Given the description of an element on the screen output the (x, y) to click on. 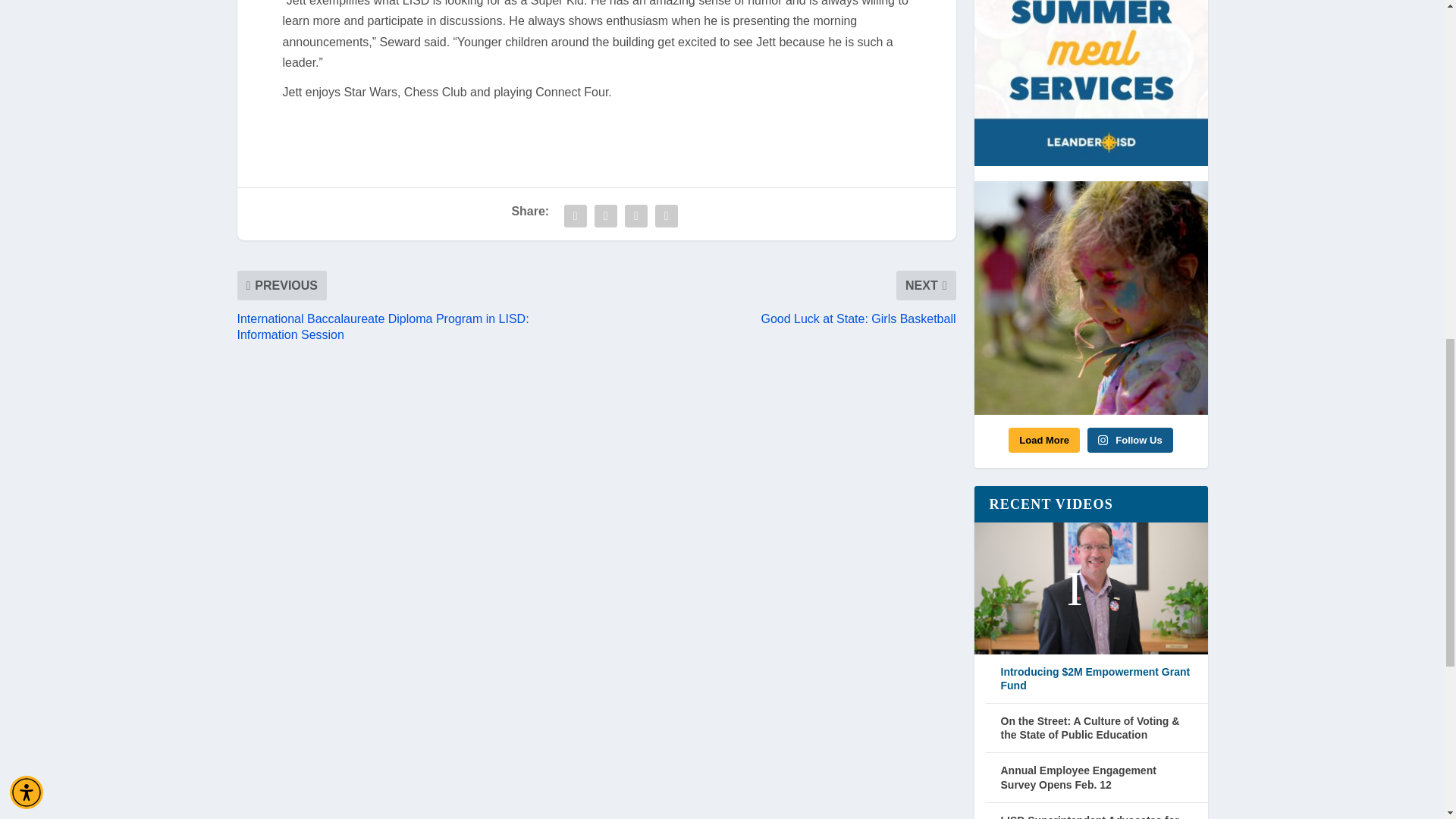
Share "Super Kid of the Week: Feb. 29, 2024" via Print (665, 215)
Share "Super Kid of the Week: Feb. 29, 2024" via Twitter (606, 215)
Share "Super Kid of the Week: Feb. 29, 2024" via Facebook (575, 215)
Share "Super Kid of the Week: Feb. 29, 2024" via Email (635, 215)
